Given the description of an element on the screen output the (x, y) to click on. 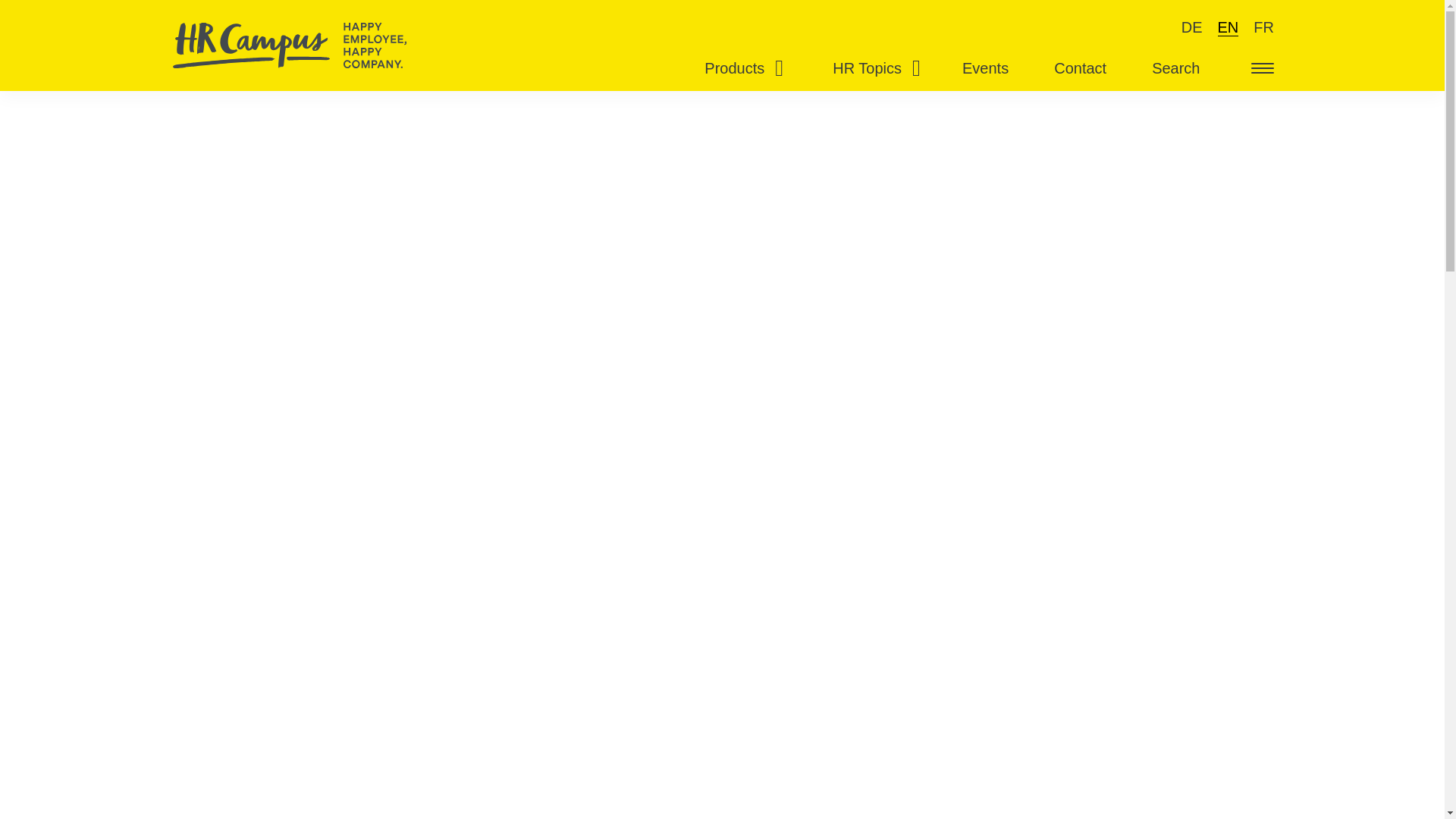
Products (737, 67)
HR Topics (870, 67)
Search (1175, 67)
Contact (1080, 67)
Events (985, 67)
